Given the description of an element on the screen output the (x, y) to click on. 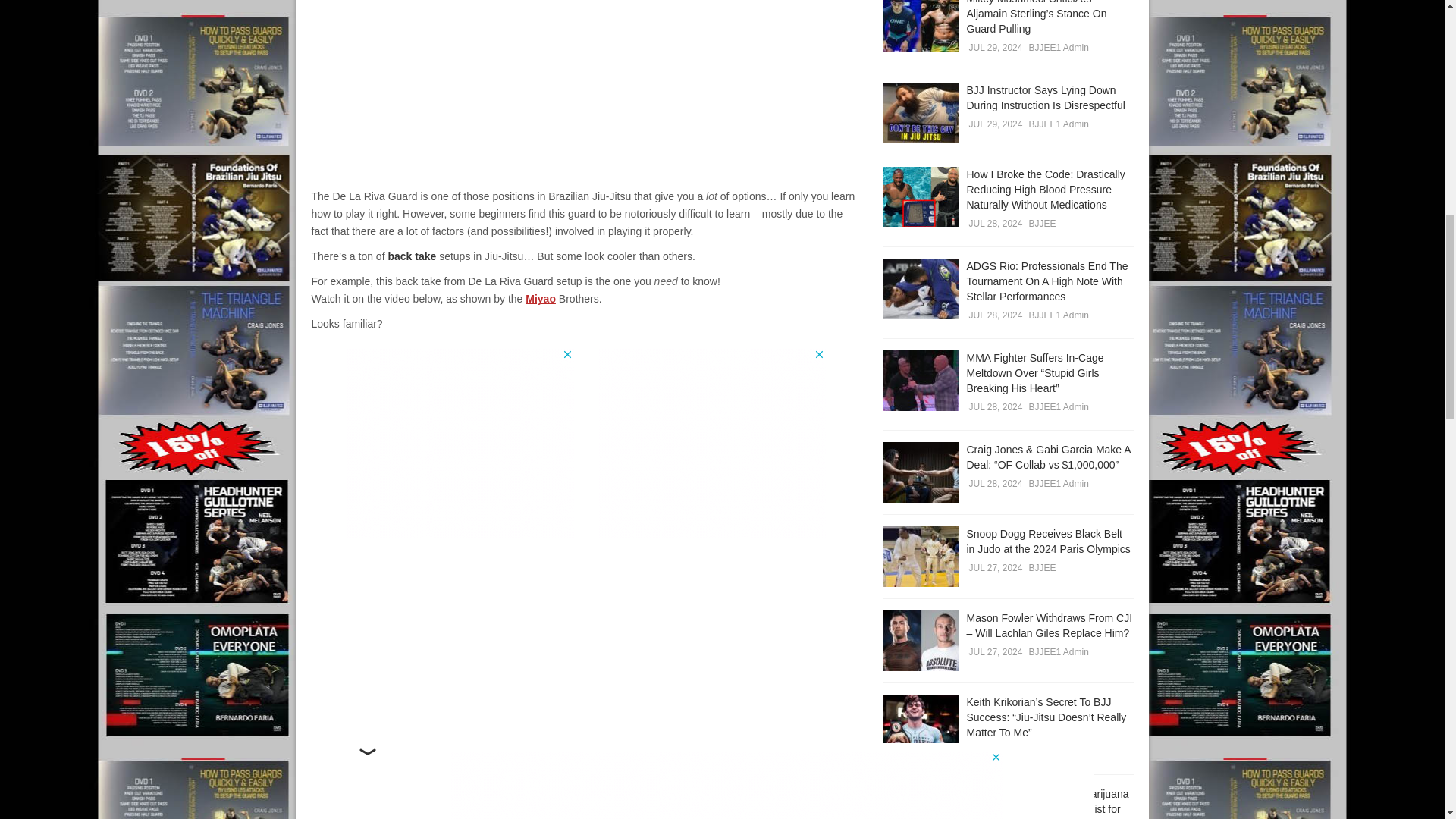
3rd party ad content (710, 442)
3rd party ad content (459, 442)
Miyao (540, 298)
Posts by BJJEE1 Admin (1057, 47)
